Given the description of an element on the screen output the (x, y) to click on. 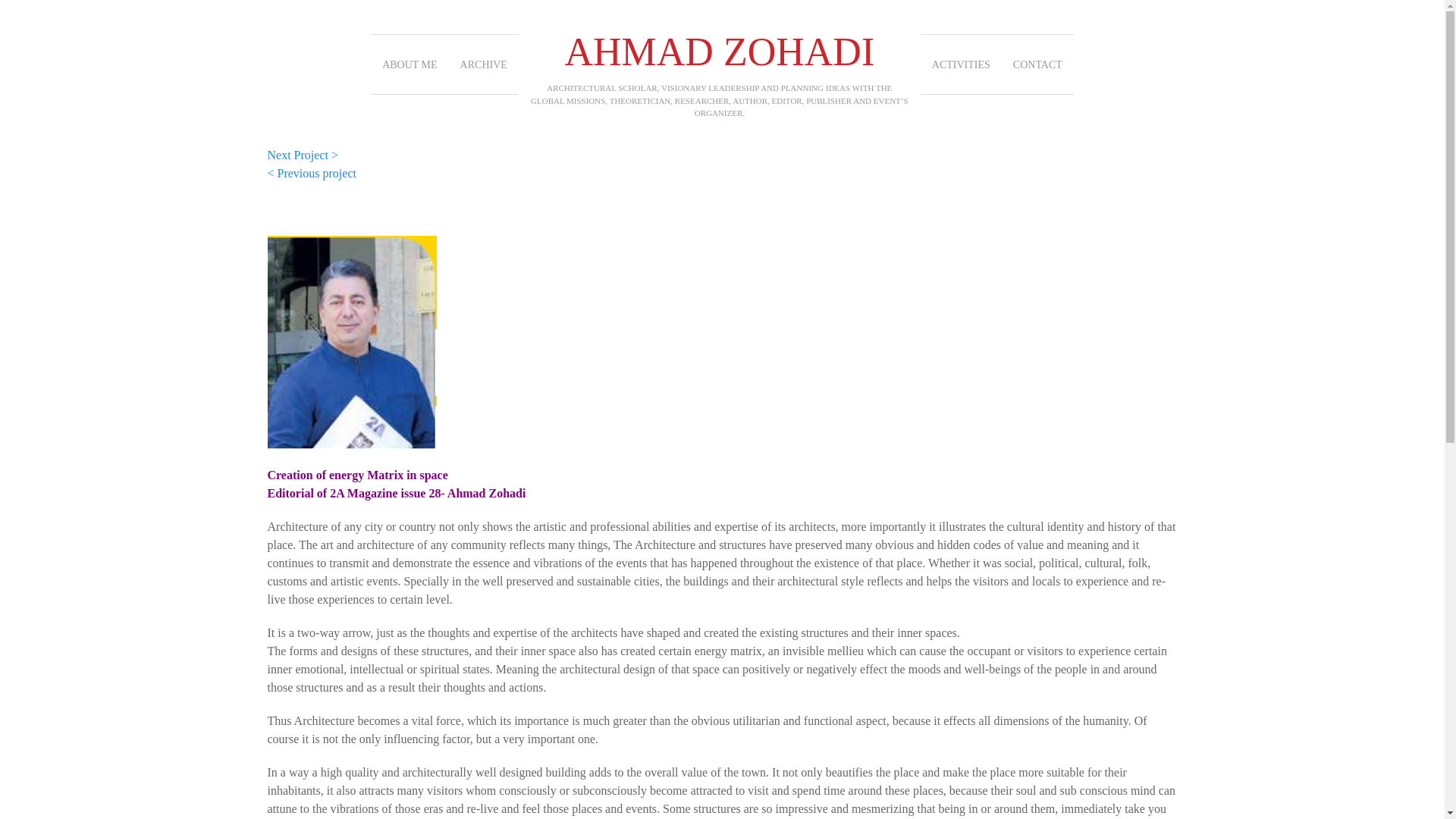
ABOUT ME (409, 61)
ARCHIVE (483, 63)
ACTIVITIES (960, 64)
CONTACT (1037, 64)
Archive (483, 64)
About me (409, 64)
